Given the description of an element on the screen output the (x, y) to click on. 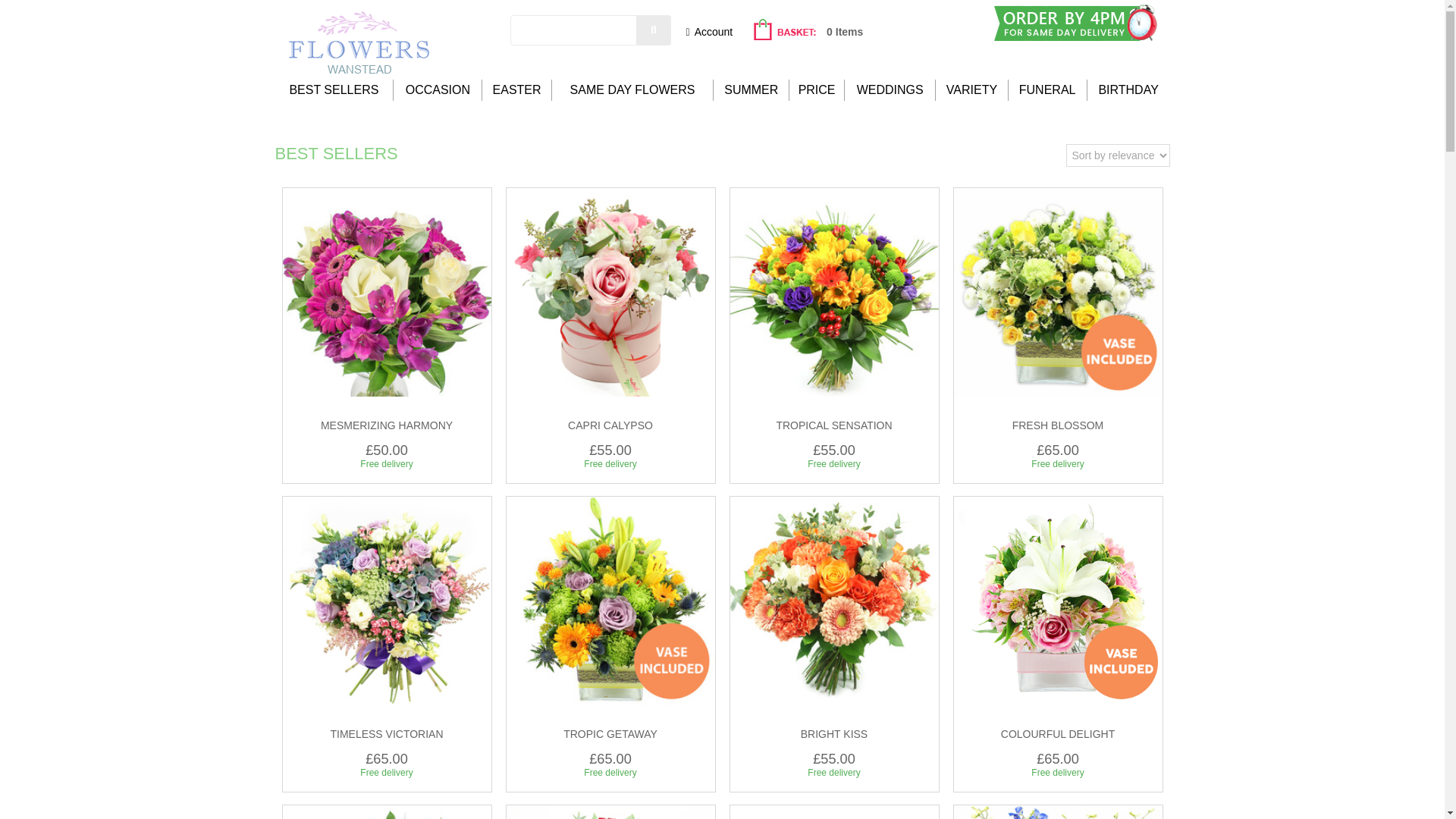
OCCASION (438, 89)
BEST SELLERS (333, 89)
Account (708, 31)
0 Items (807, 31)
